Given the description of an element on the screen output the (x, y) to click on. 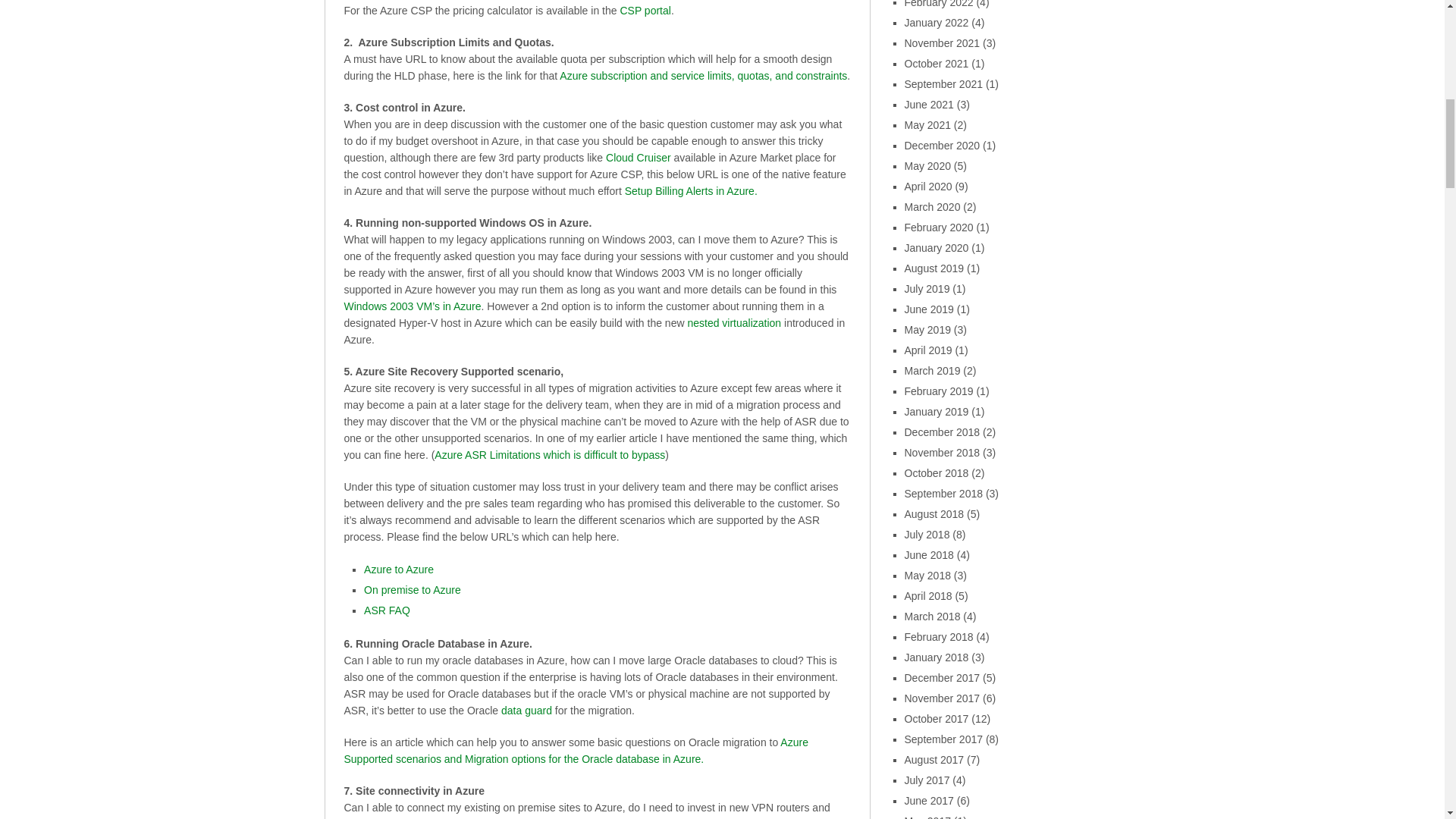
On premise to Azure (412, 589)
Azure ASR Limitations which is difficult to bypass (549, 454)
Azure to Azure (398, 569)
Cloud Cruiser (638, 157)
Setup Billing Alerts in Azure. (689, 191)
data guard (525, 710)
ASR FAQ (387, 610)
CSP portal (644, 10)
nested virtualization (733, 322)
